Given the description of an element on the screen output the (x, y) to click on. 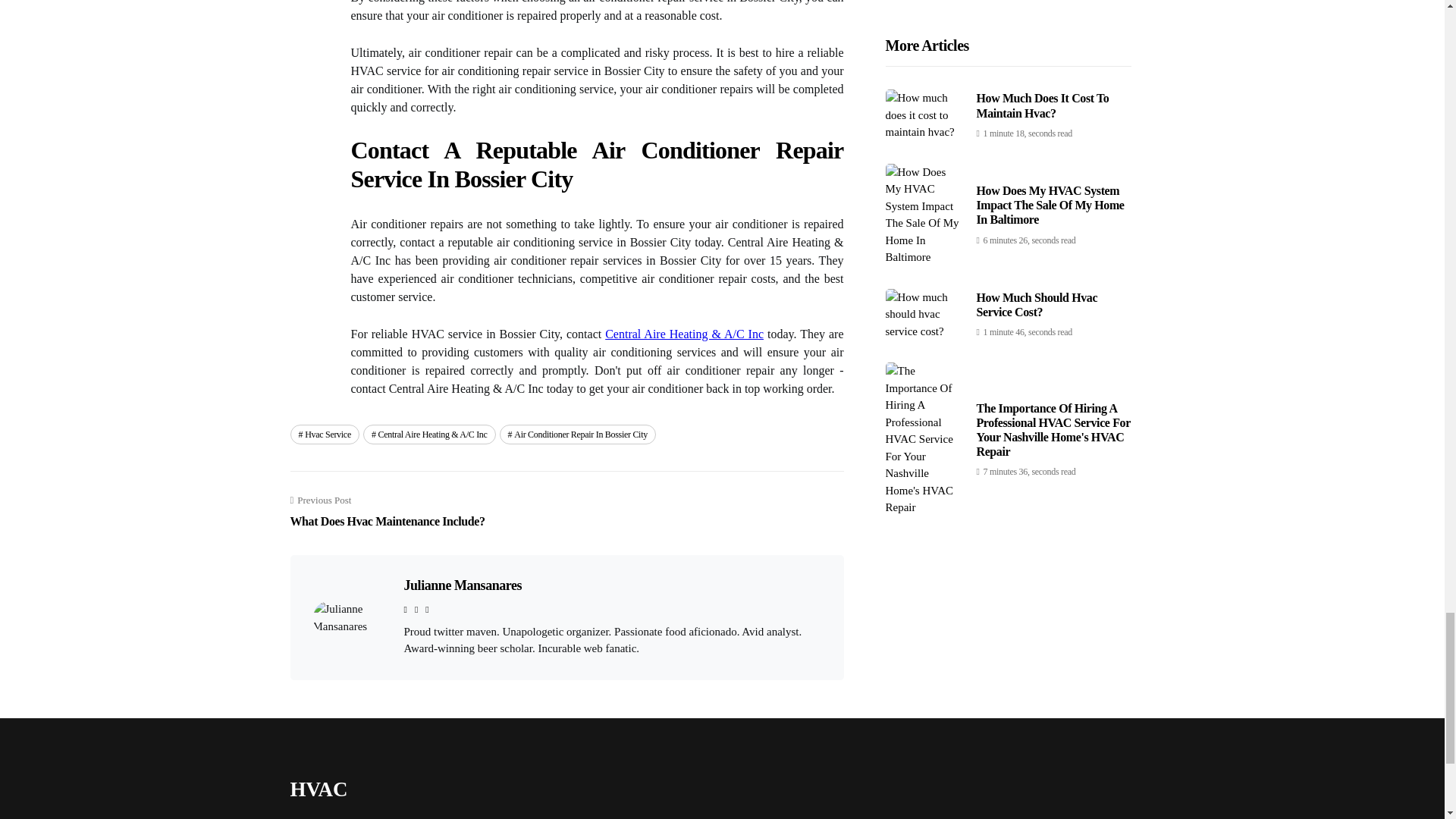
Julianne Mansanares (462, 585)
Air Conditioner Repair In Bossier City (577, 434)
Hvac Service (323, 434)
